Given the description of an element on the screen output the (x, y) to click on. 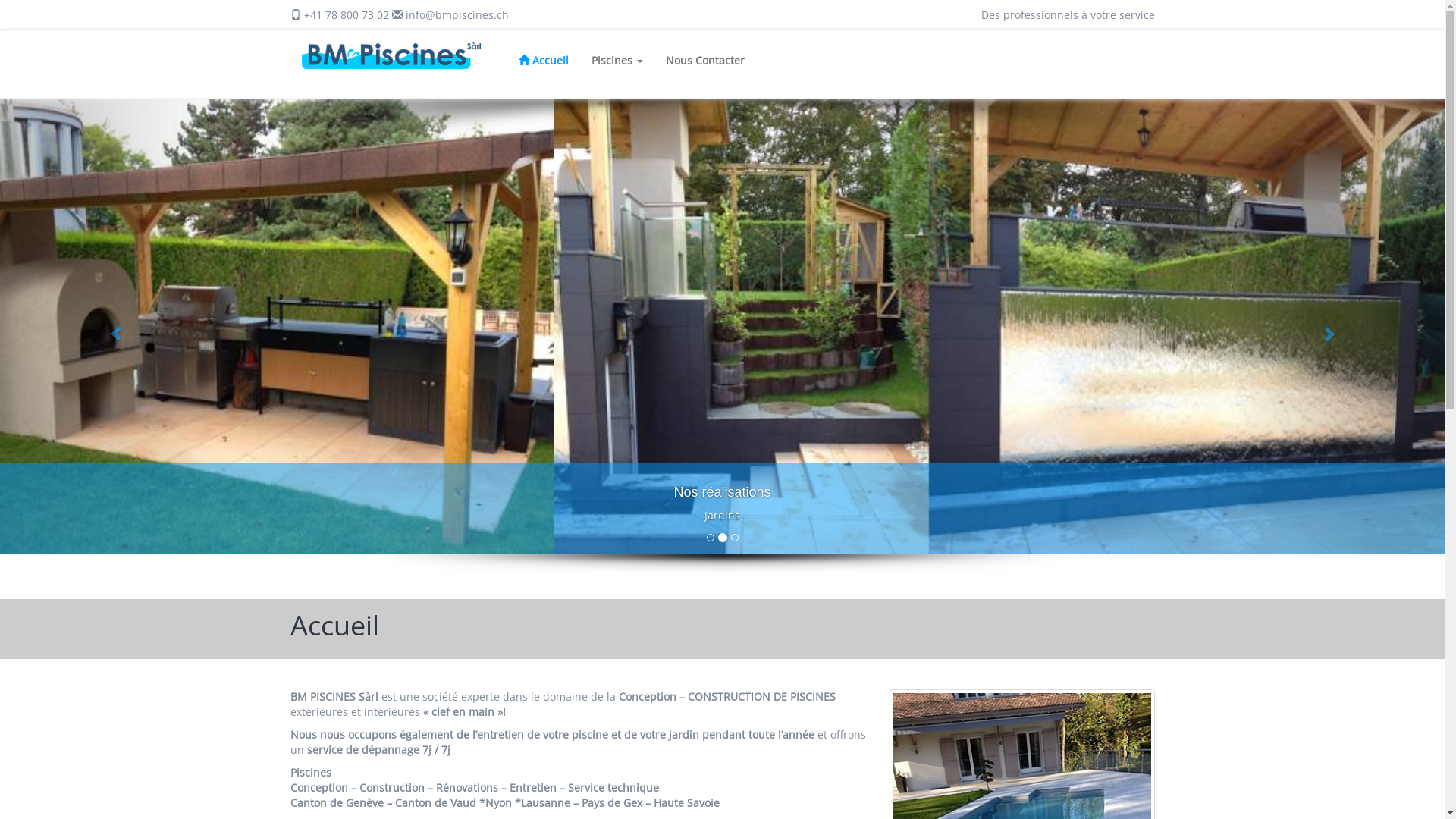
Piscines Element type: text (617, 60)
 Accueil Element type: text (543, 60)
BM Piscines Element type: hover (390, 55)
info@bmpiscines.ch Element type: text (456, 14)
Nous Contacter Element type: text (705, 60)
